Given the description of an element on the screen output the (x, y) to click on. 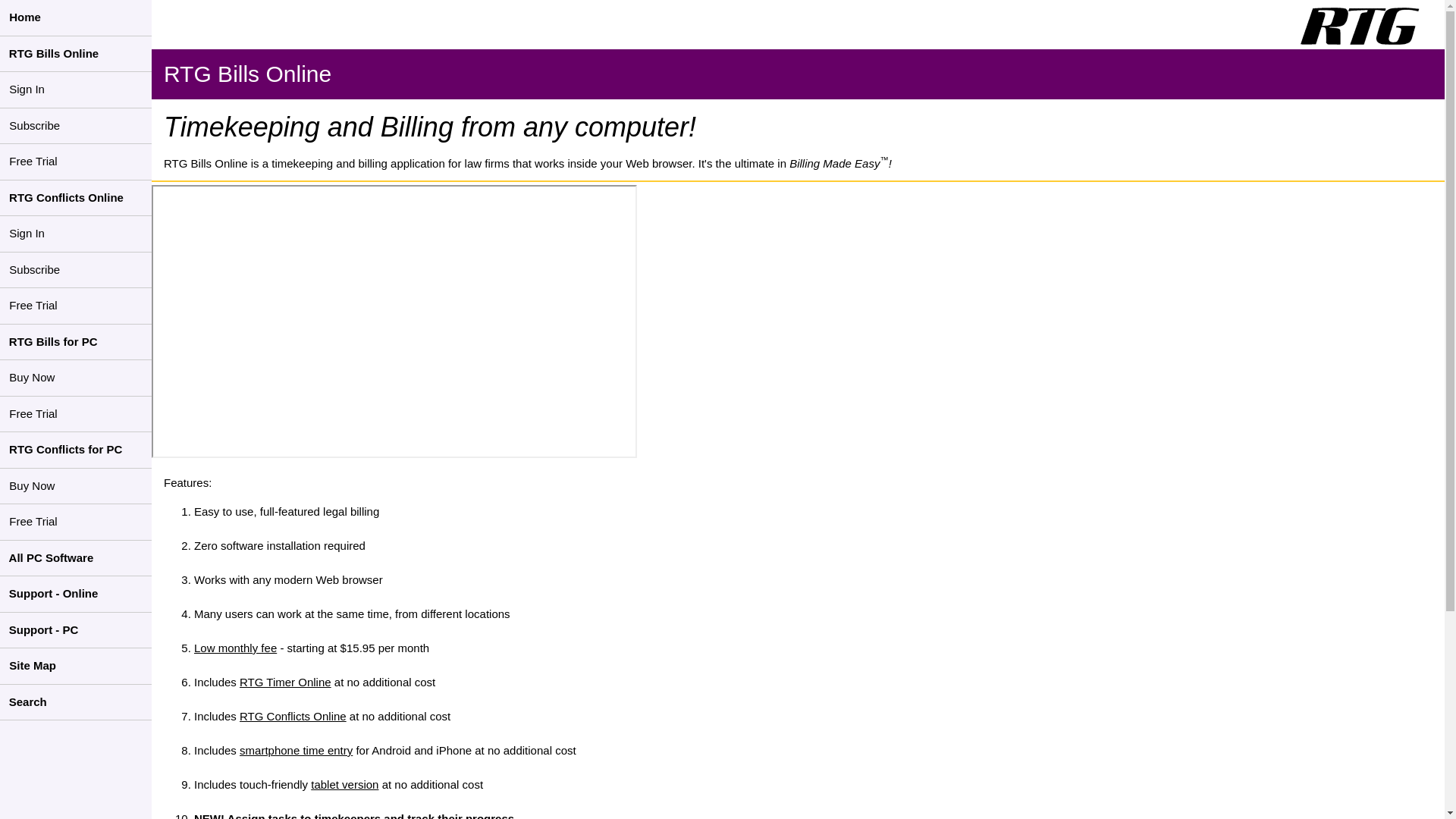
RTG Bills for PC (75, 342)
Free Trial (75, 413)
Buy Now (75, 486)
Free Trial (53, 162)
Sign In (66, 234)
RTG Conflicts Online (293, 716)
smartphone time entry (296, 749)
Subscribe (72, 269)
Buy Now (75, 378)
Support - Online (75, 594)
